Given the description of an element on the screen output the (x, y) to click on. 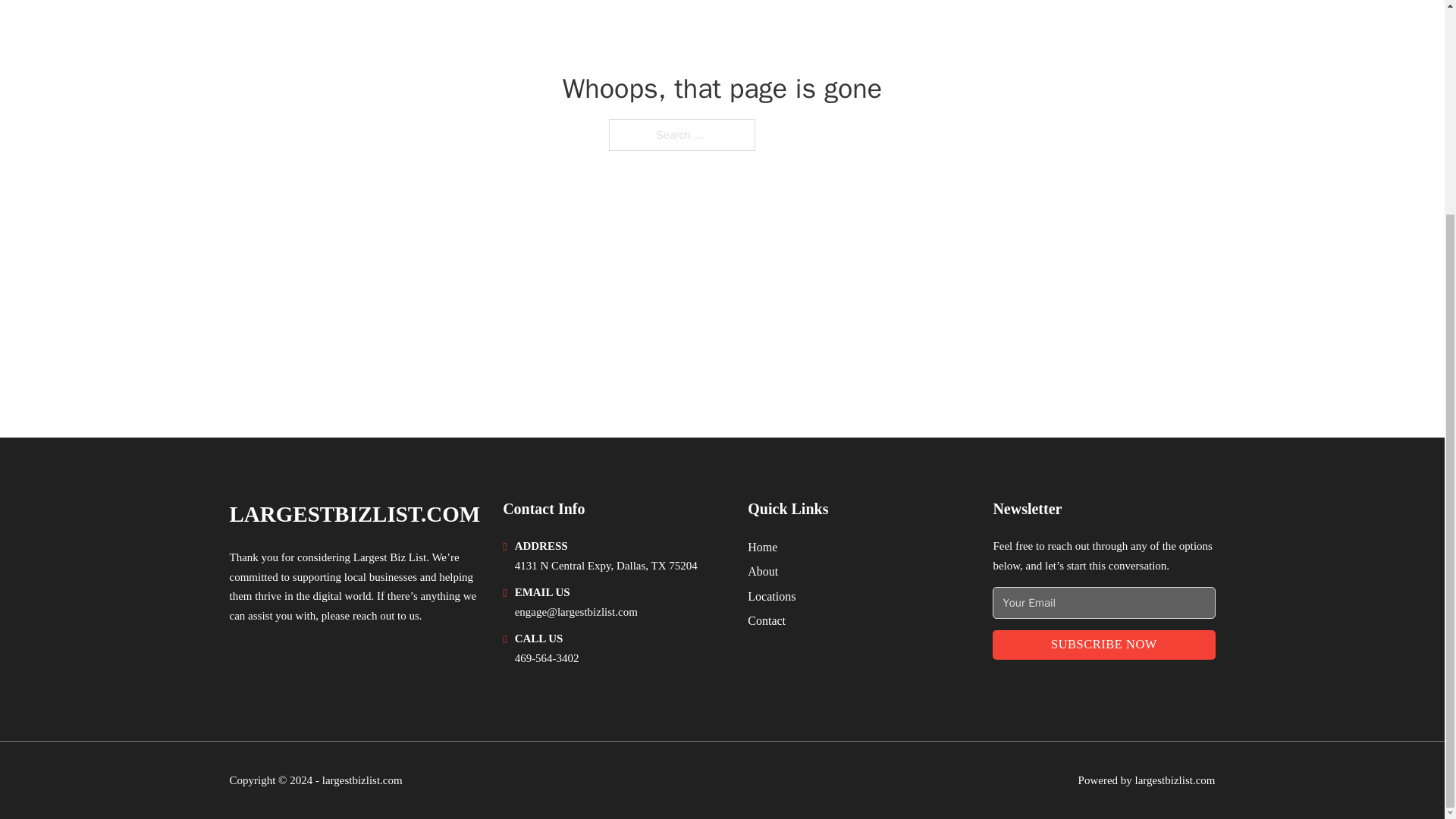
SUBSCRIBE NOW (1103, 644)
About (762, 571)
Contact (767, 620)
469-564-3402 (547, 657)
LARGESTBIZLIST.COM (354, 514)
Home (762, 547)
Locations (771, 596)
